Given the description of an element on the screen output the (x, y) to click on. 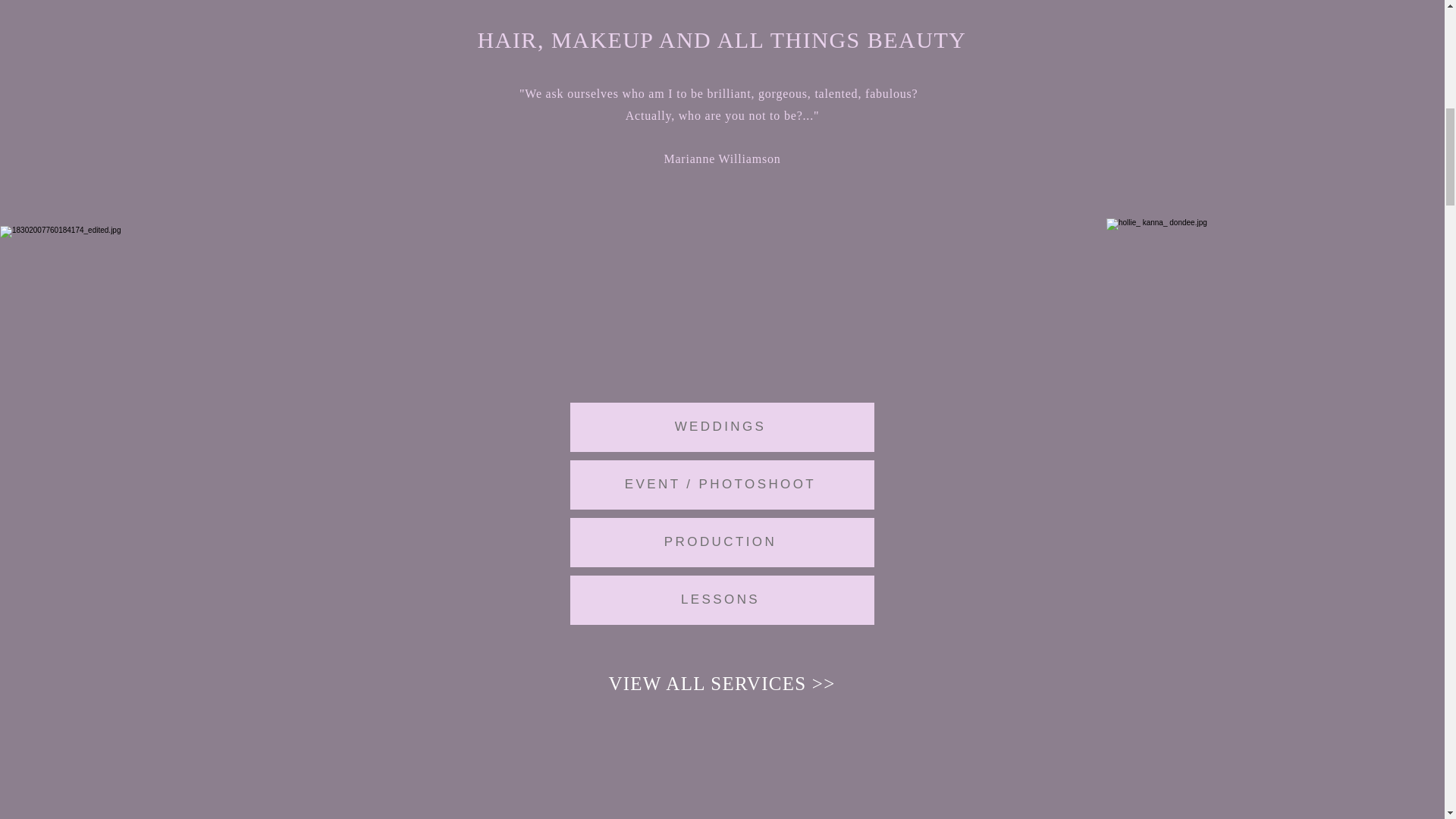
PRODUCTION (722, 542)
WEDDINGS (722, 427)
LESSONS (722, 599)
